Given the description of an element on the screen output the (x, y) to click on. 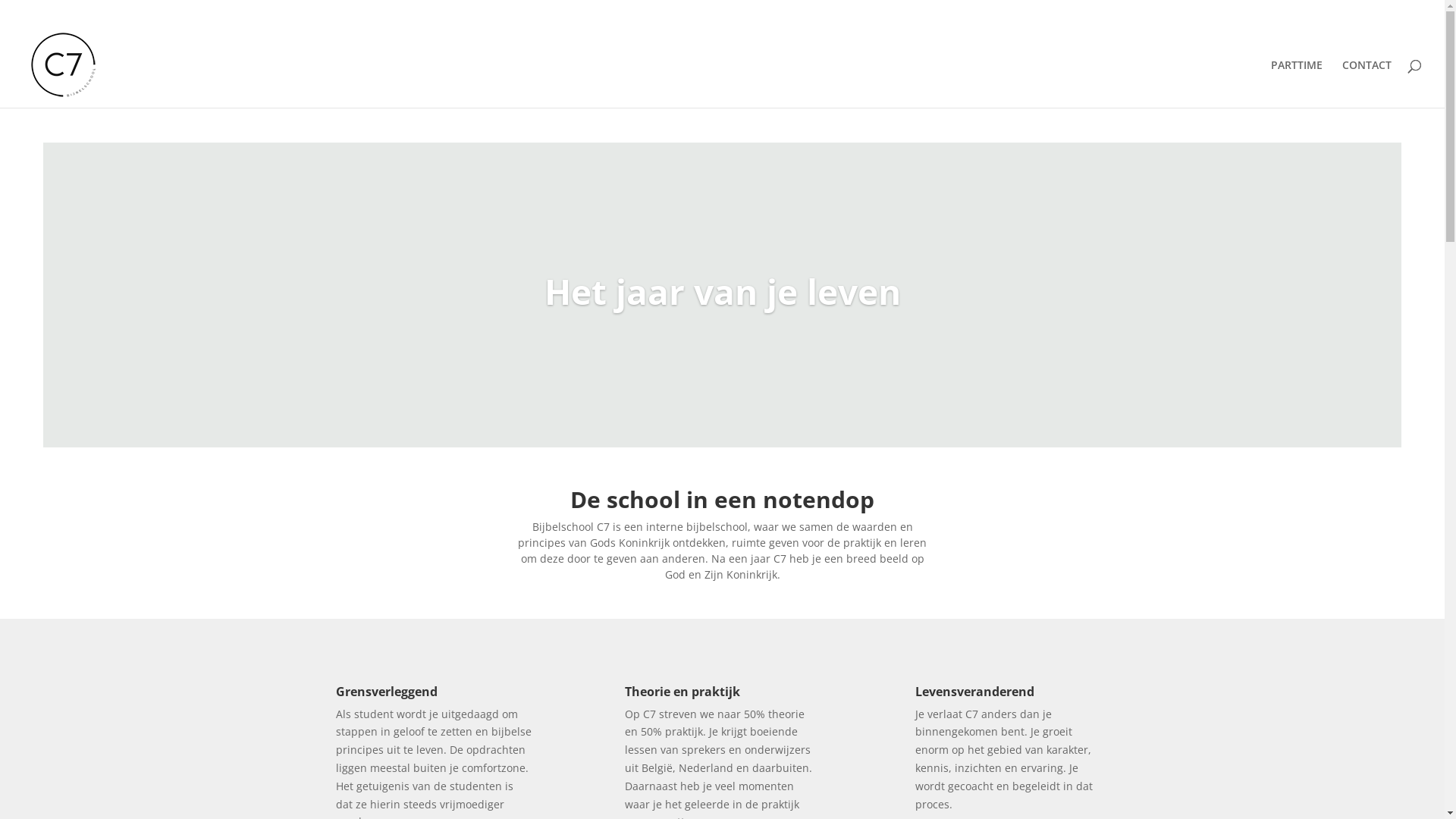
PARTTIME Element type: text (1296, 83)
CONTACT Element type: text (1366, 83)
